Given the description of an element on the screen output the (x, y) to click on. 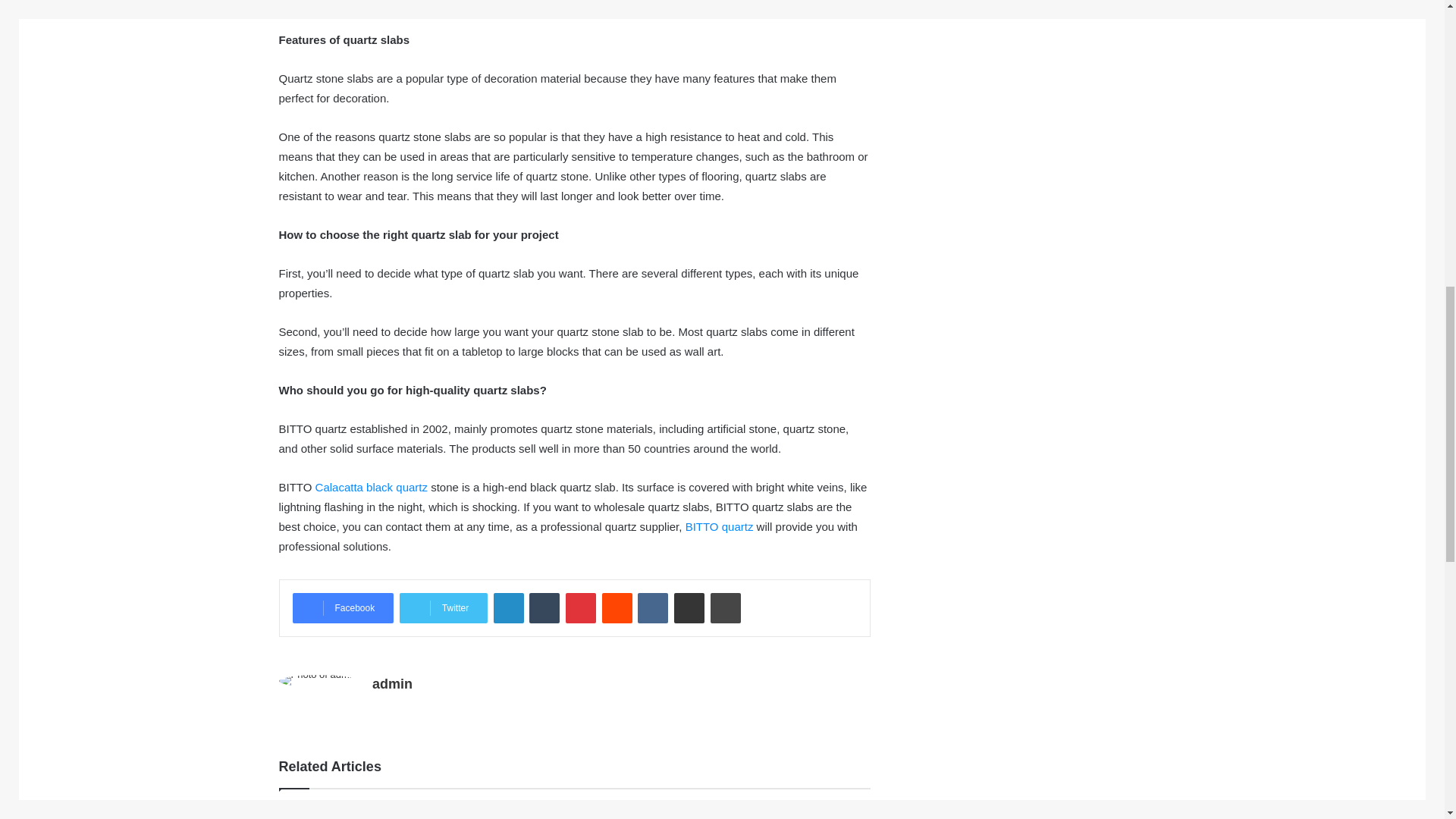
Print (725, 607)
Tumblr (544, 607)
Tumblr (544, 607)
Twitter (442, 607)
Facebook (343, 607)
BITTO quartz (719, 526)
admin (392, 683)
LinkedIn (508, 607)
Pinterest (580, 607)
Twitter (442, 607)
LinkedIn (508, 607)
VKontakte (652, 607)
Website (381, 710)
Pinterest (580, 607)
Facebook (343, 607)
